Given the description of an element on the screen output the (x, y) to click on. 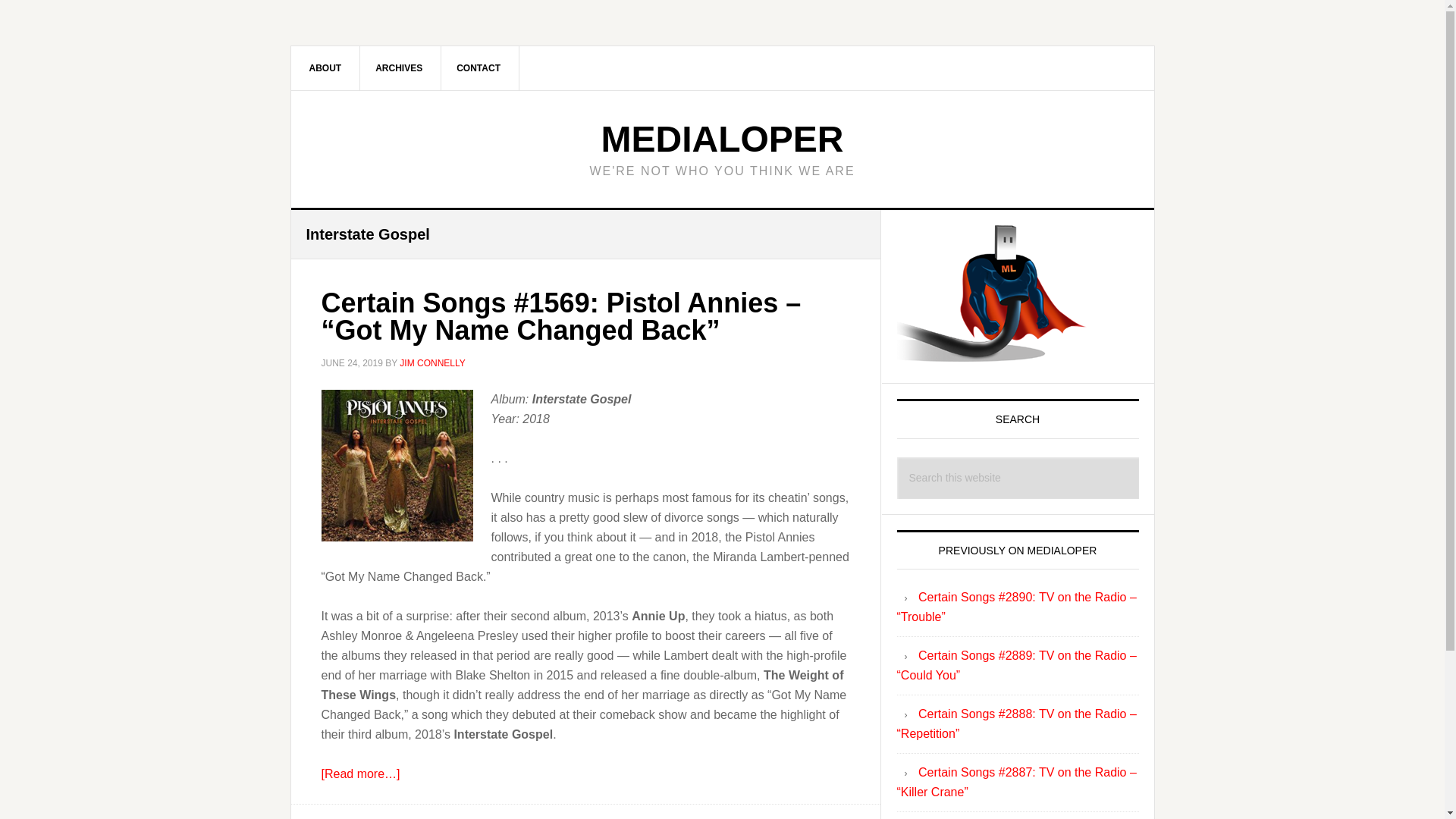
CONTACT (478, 67)
ARCHIVES (398, 67)
ABOUT (326, 67)
JIM CONNELLY (431, 362)
MEDIALOPER (721, 138)
